Given the description of an element on the screen output the (x, y) to click on. 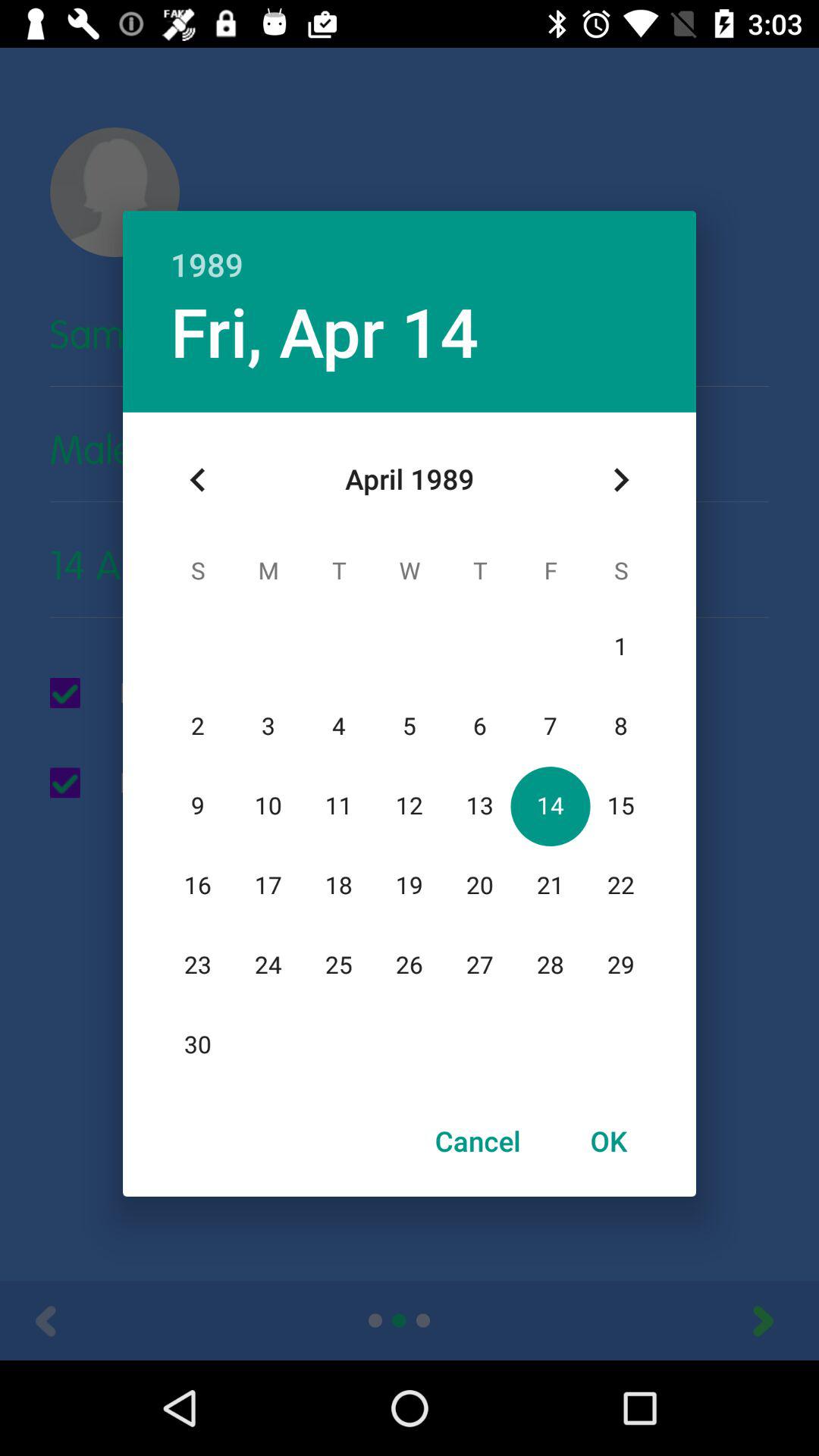
launch the icon below the fri, apr 14 (197, 479)
